Given the description of an element on the screen output the (x, y) to click on. 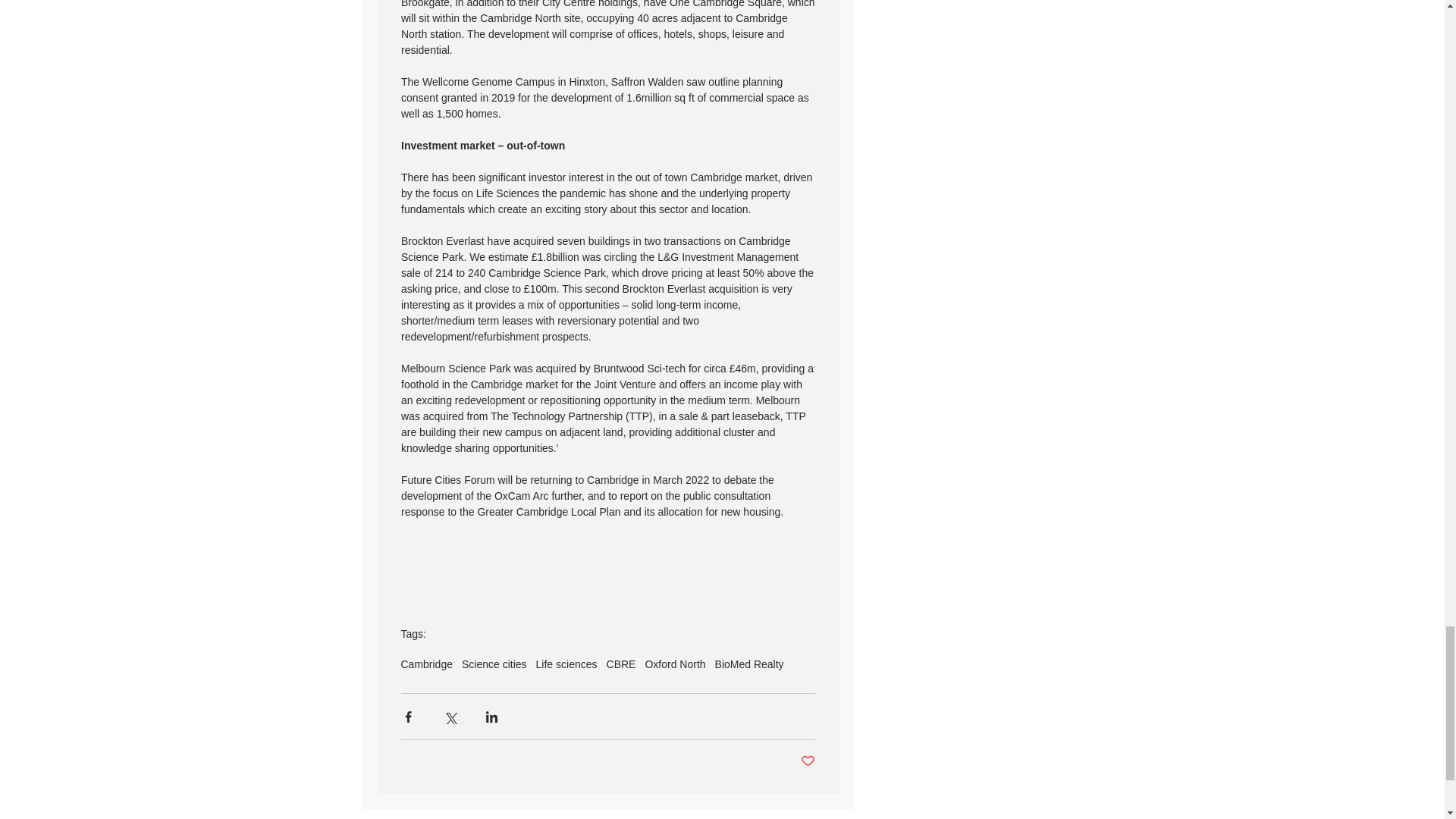
Oxford North (674, 664)
Life sciences (565, 664)
CBRE (621, 664)
Post not marked as liked (807, 761)
Science cities (494, 664)
BioMed Realty (749, 664)
Cambridge (425, 664)
